Given the description of an element on the screen output the (x, y) to click on. 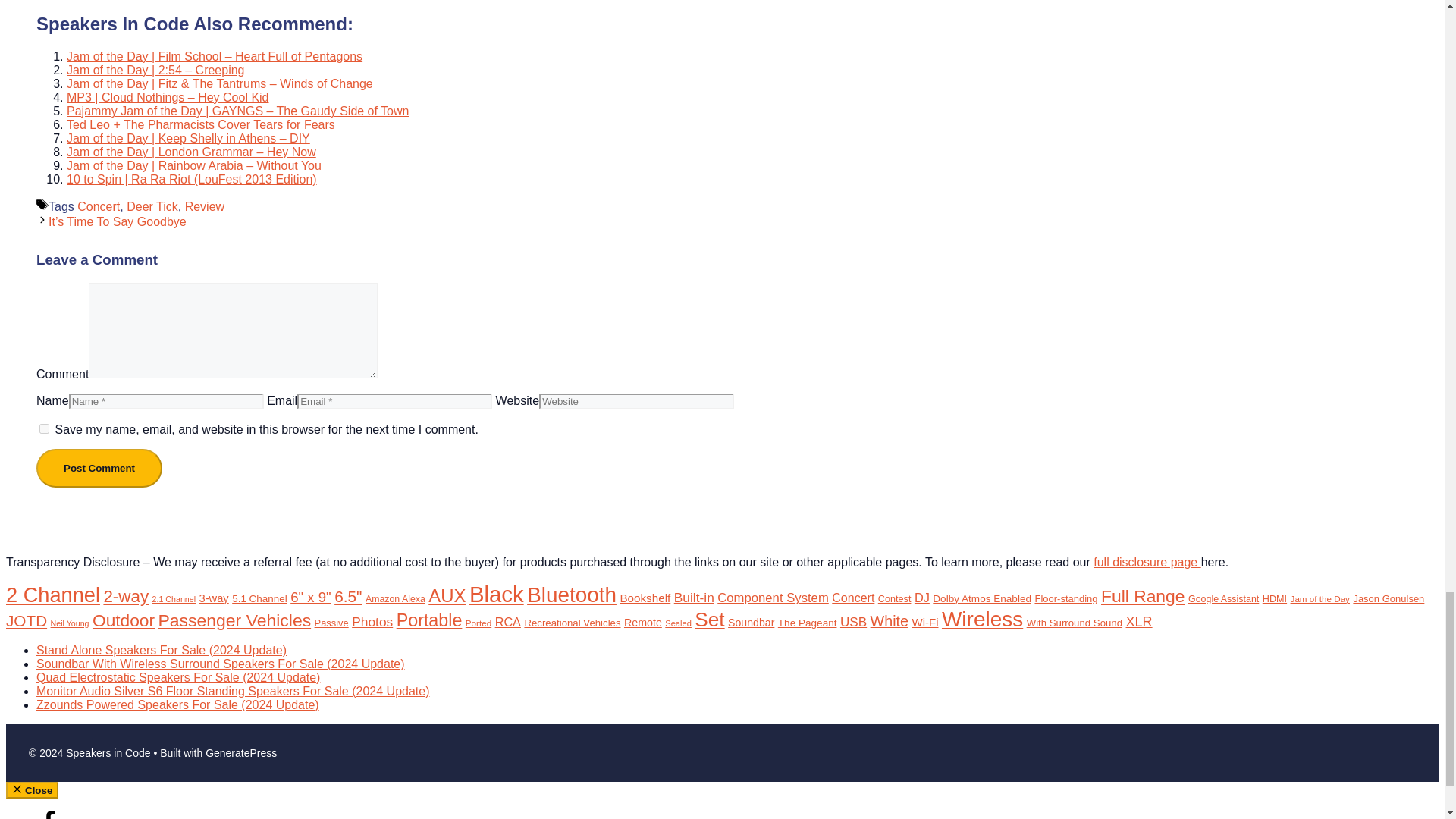
Post Comment (98, 467)
Concert (98, 205)
Deer Tick (151, 205)
Review (204, 205)
yes (44, 429)
Post Comment (98, 467)
